Given the description of an element on the screen output the (x, y) to click on. 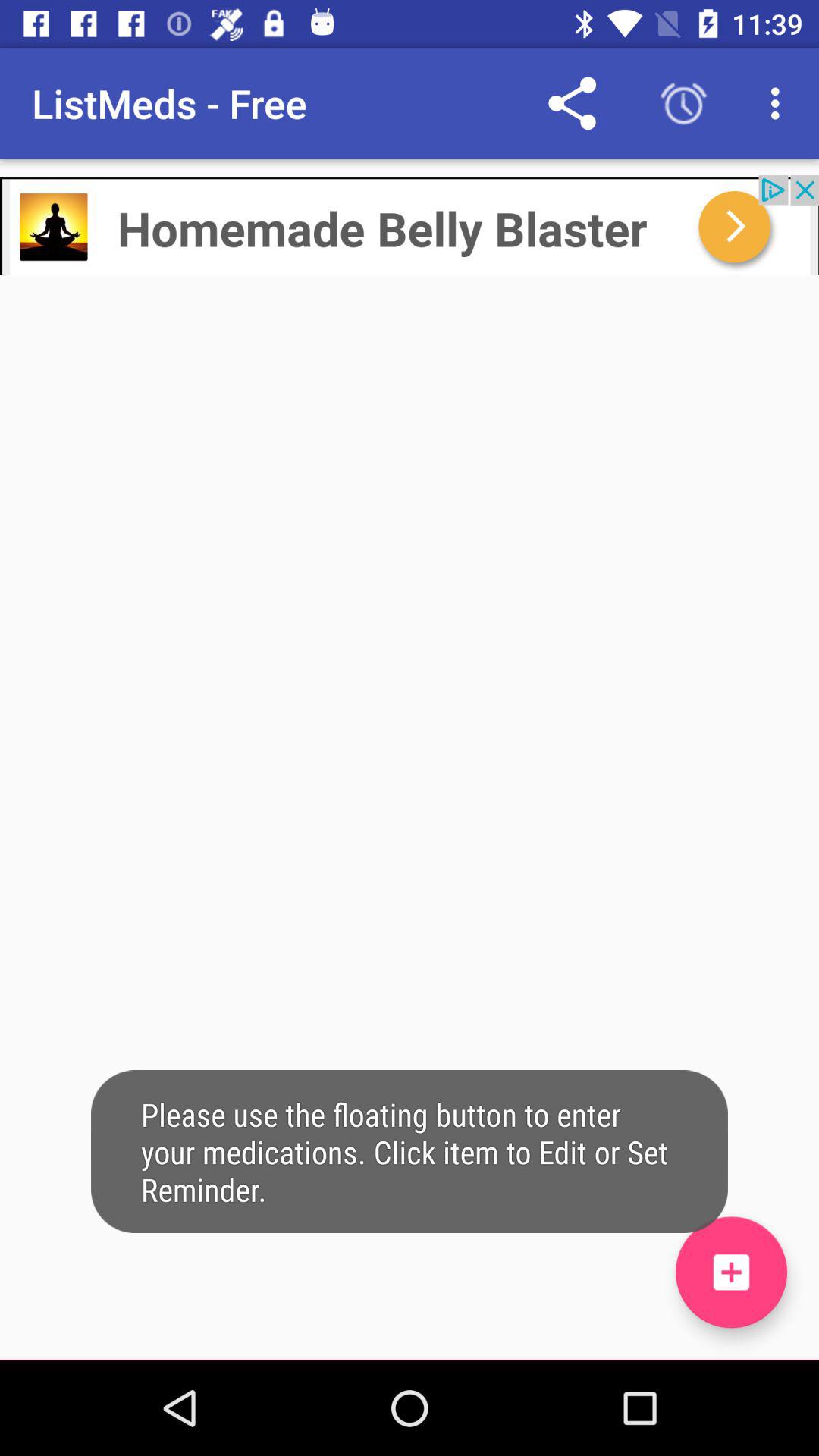
open advertisement (409, 224)
